Given the description of an element on the screen output the (x, y) to click on. 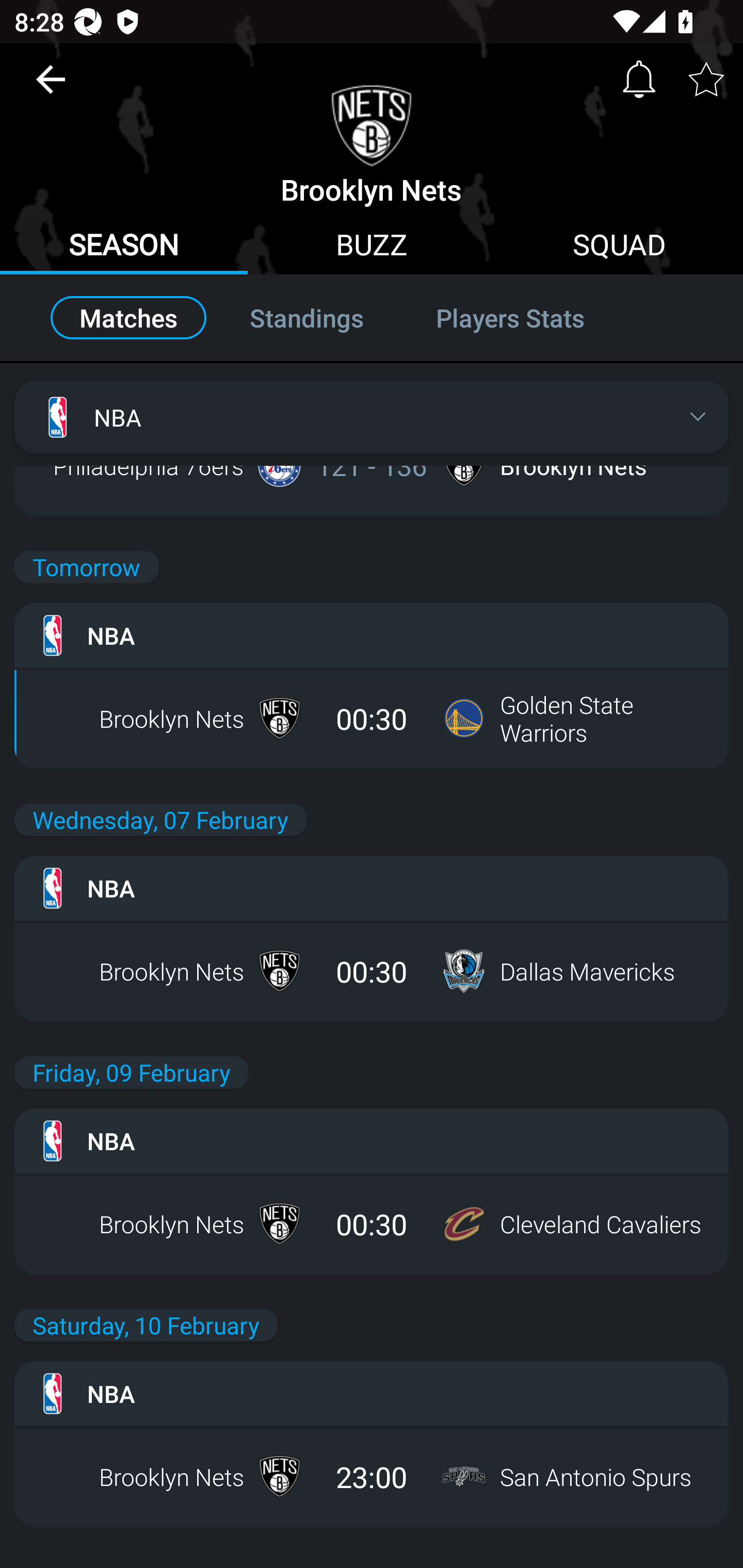
Navigate up (50, 86)
SEASON (123, 246)
BUZZ (371, 246)
SQUAD (619, 246)
Standings (306, 317)
Players Stats (531, 317)
NBA (371, 417)
NBA (371, 635)
Brooklyn Nets 00:30 Golden State Warriors (371, 717)
NBA (371, 888)
Brooklyn Nets 00:30 Dallas Mavericks (371, 971)
NBA (371, 1140)
Brooklyn Nets 00:30 Cleveland Cavaliers (371, 1223)
NBA (371, 1393)
Brooklyn Nets 23:00 San Antonio Spurs (371, 1476)
